Given the description of an element on the screen output the (x, y) to click on. 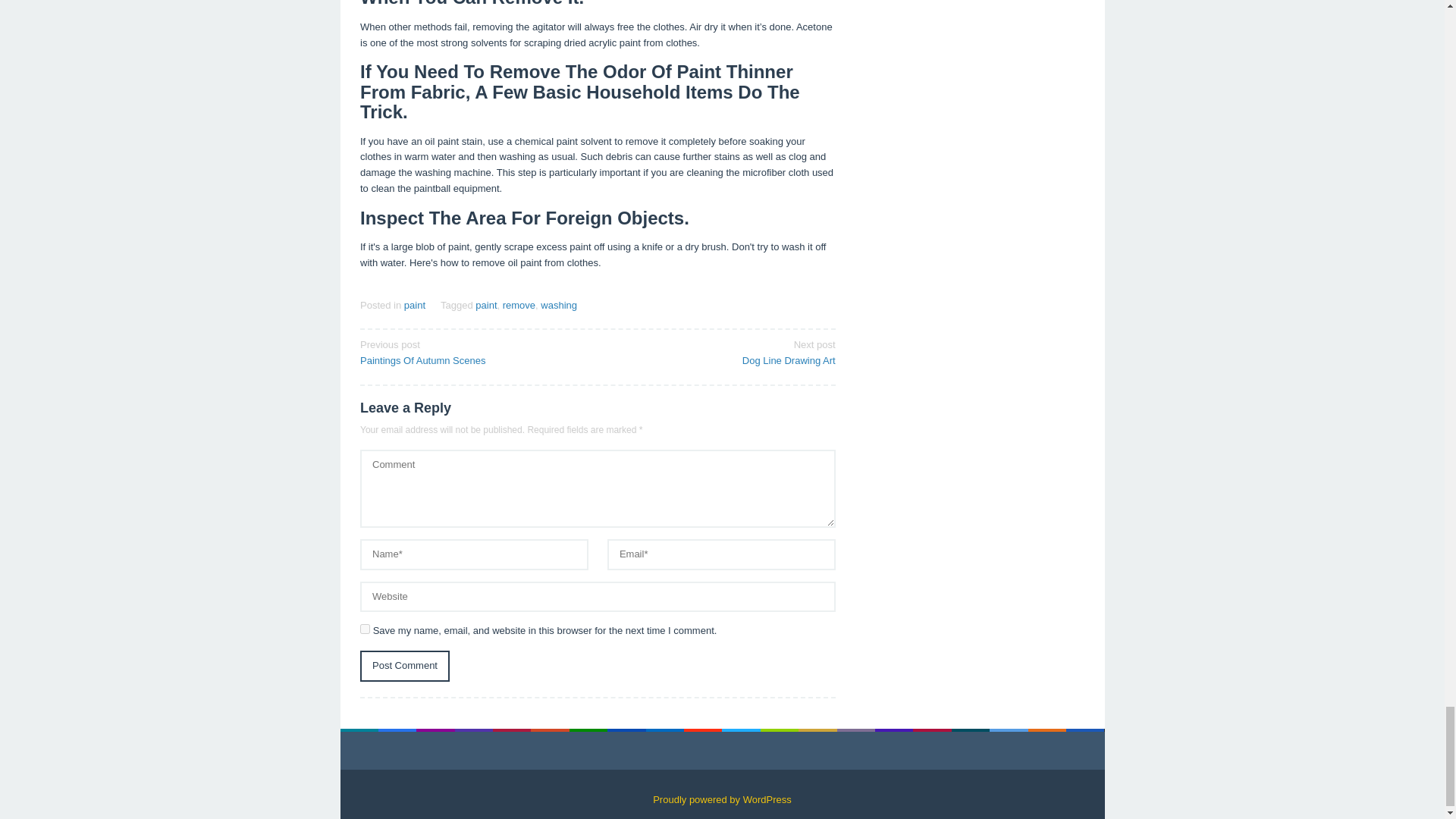
paint (486, 305)
Post Comment (404, 665)
Post Comment (404, 665)
washing (721, 351)
yes (473, 351)
paint (558, 305)
remove (364, 628)
